Given the description of an element on the screen output the (x, y) to click on. 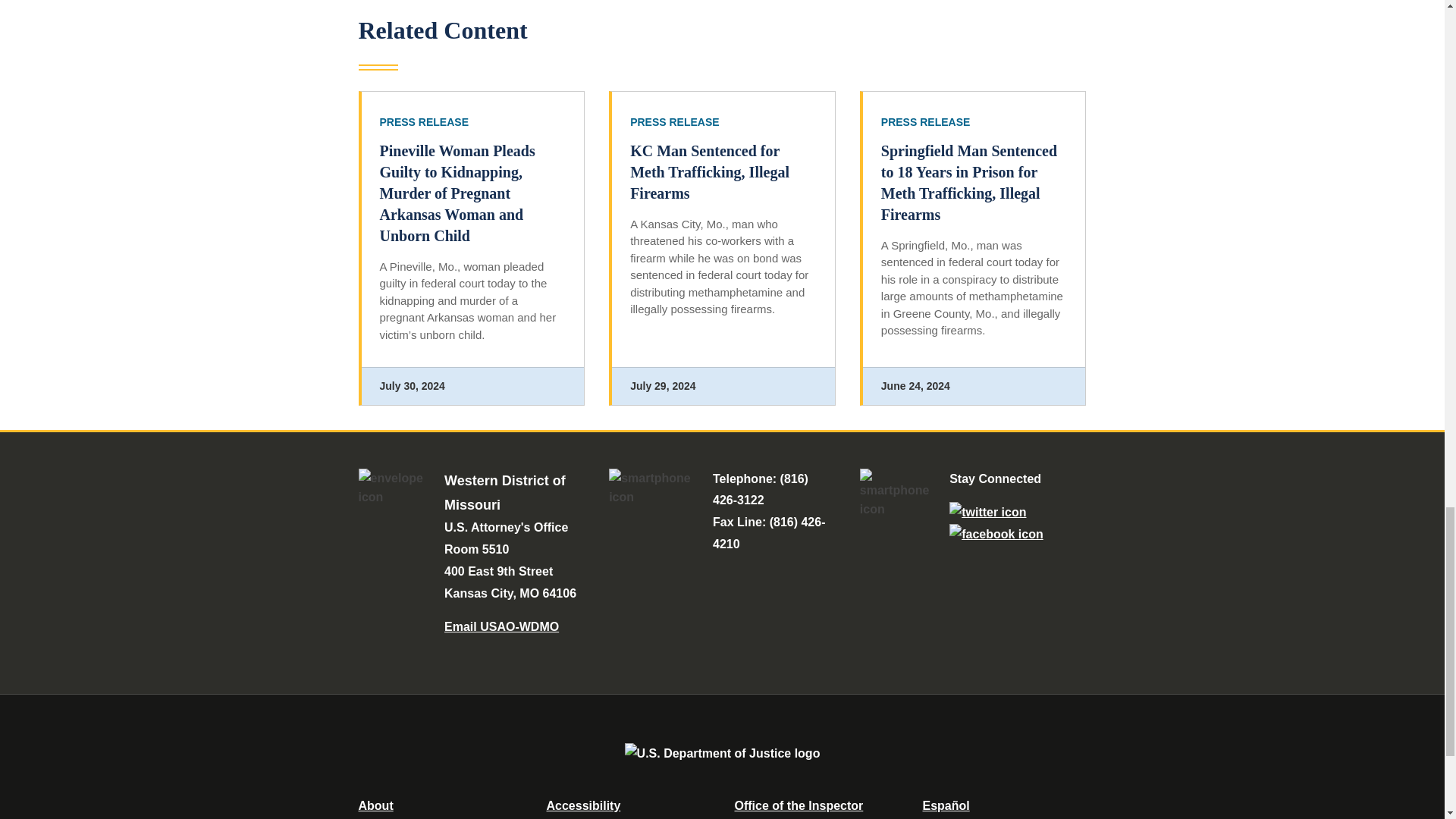
About DOJ (375, 805)
Accessibility Statement (583, 805)
